Given the description of an element on the screen output the (x, y) to click on. 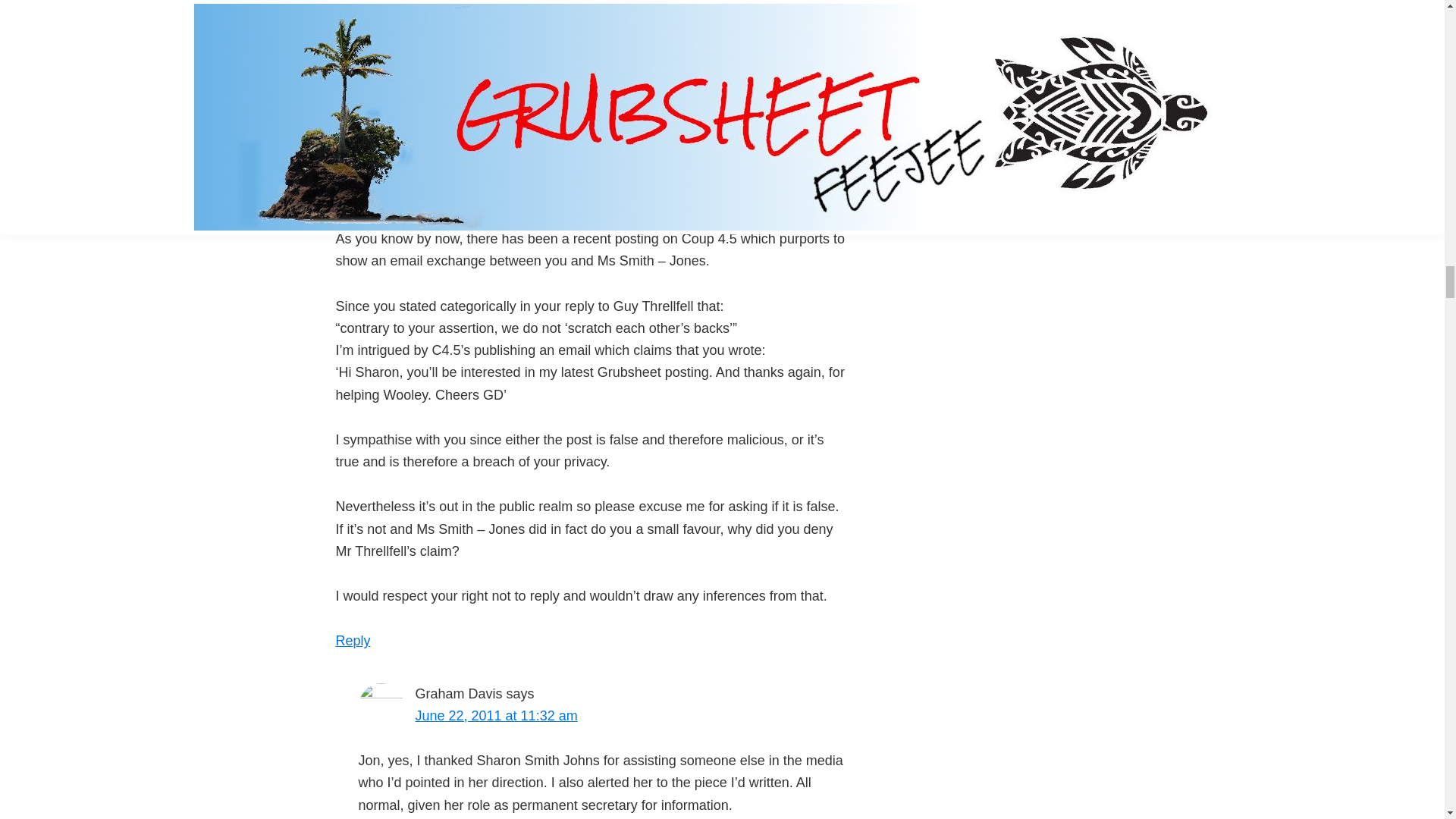
Reply (330, 73)
June 22, 2011 at 10:23 am (473, 149)
Reply (351, 640)
June 22, 2011 at 11:32 am (496, 715)
